Given the description of an element on the screen output the (x, y) to click on. 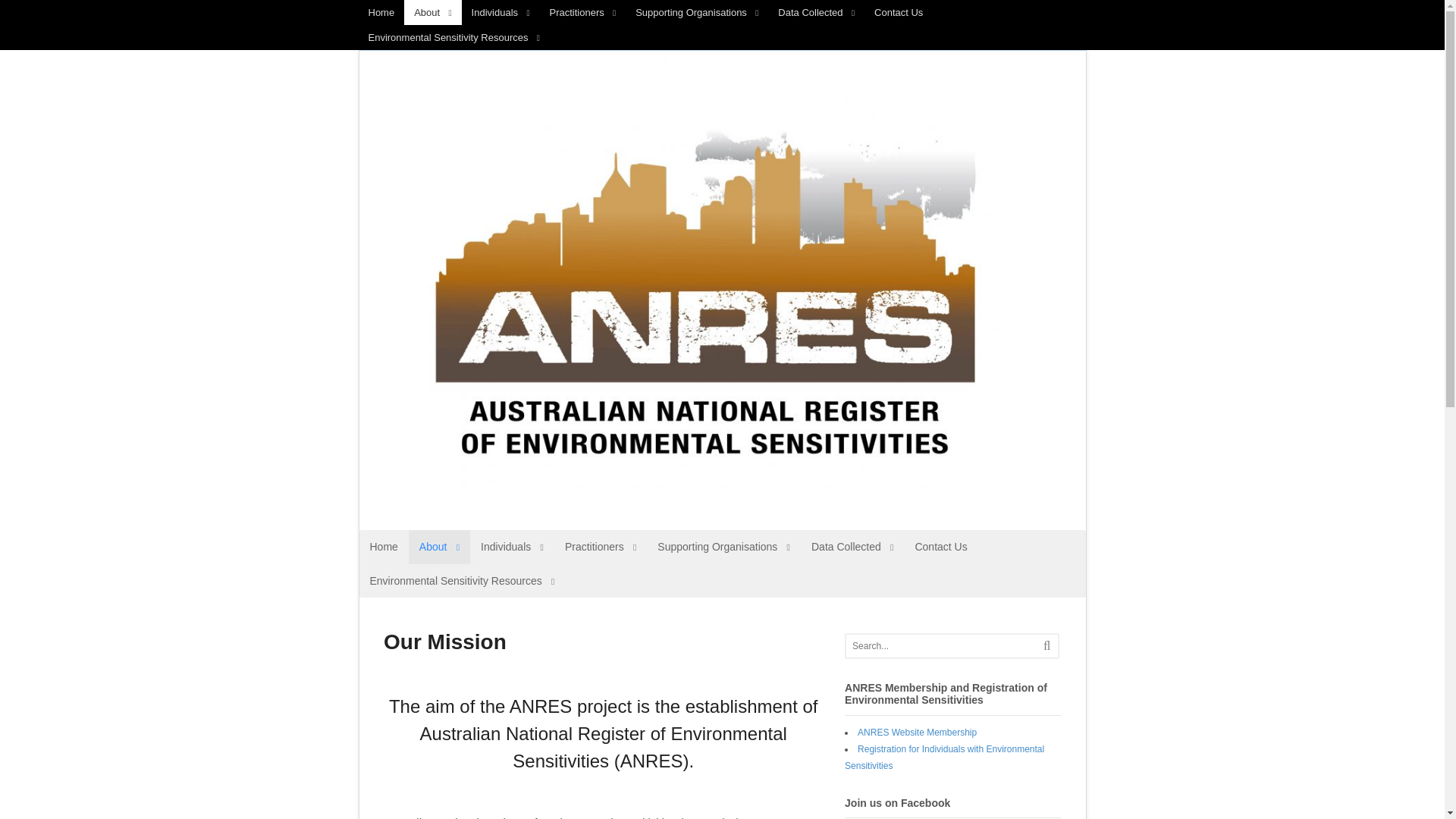
Home (384, 546)
Practitioners (600, 546)
Individuals (512, 546)
About (439, 546)
Home (381, 12)
Individuals (500, 12)
Search... (941, 645)
Australian National Register of Environmental Sensitivities (715, 525)
Environmental Sensitivity Resources (453, 37)
Practitioners (582, 12)
